Given the description of an element on the screen output the (x, y) to click on. 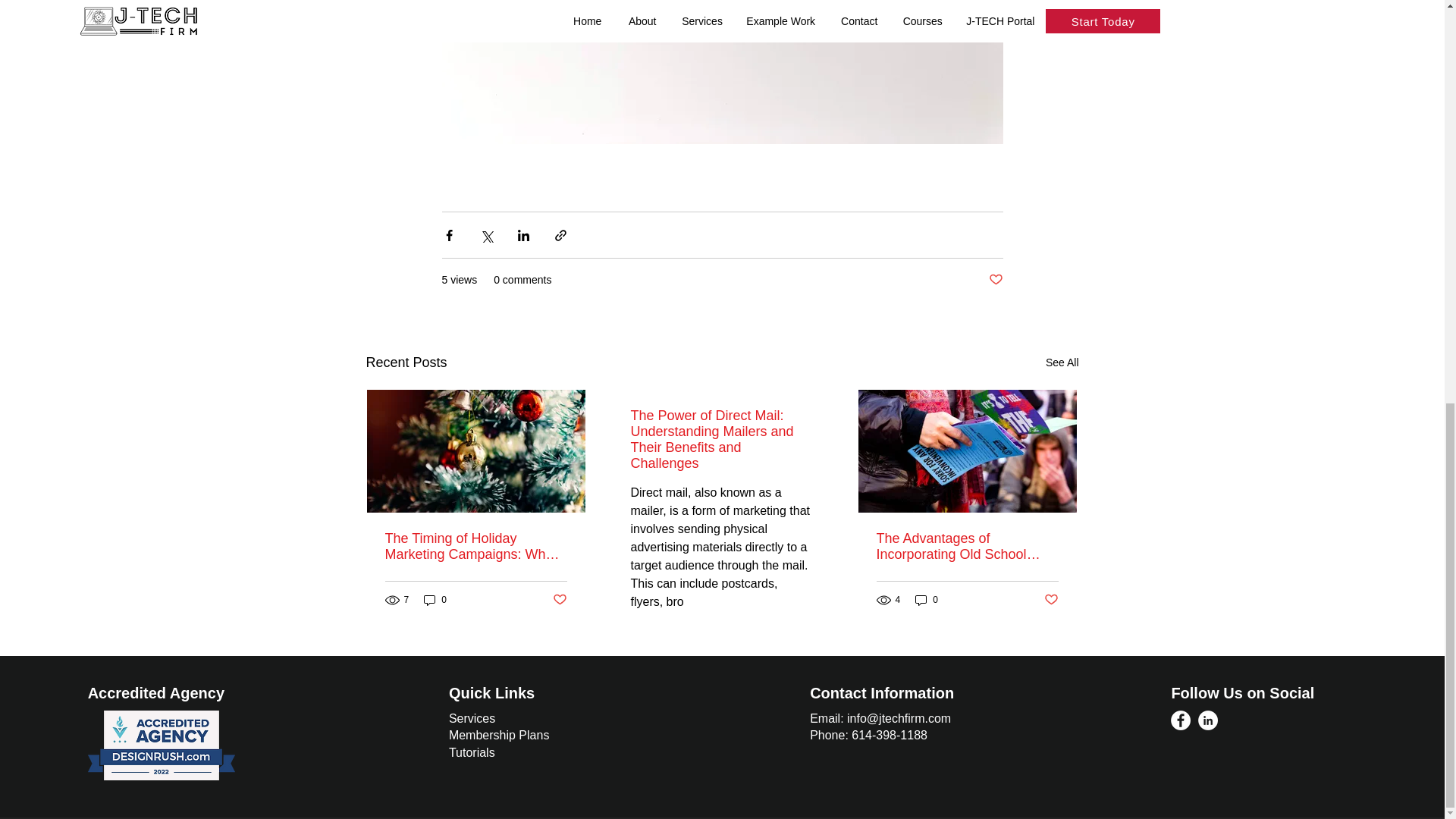
0 (926, 599)
Post not marked as liked (995, 279)
See All (1061, 362)
0 (435, 599)
Post not marked as liked (558, 599)
